Given the description of an element on the screen output the (x, y) to click on. 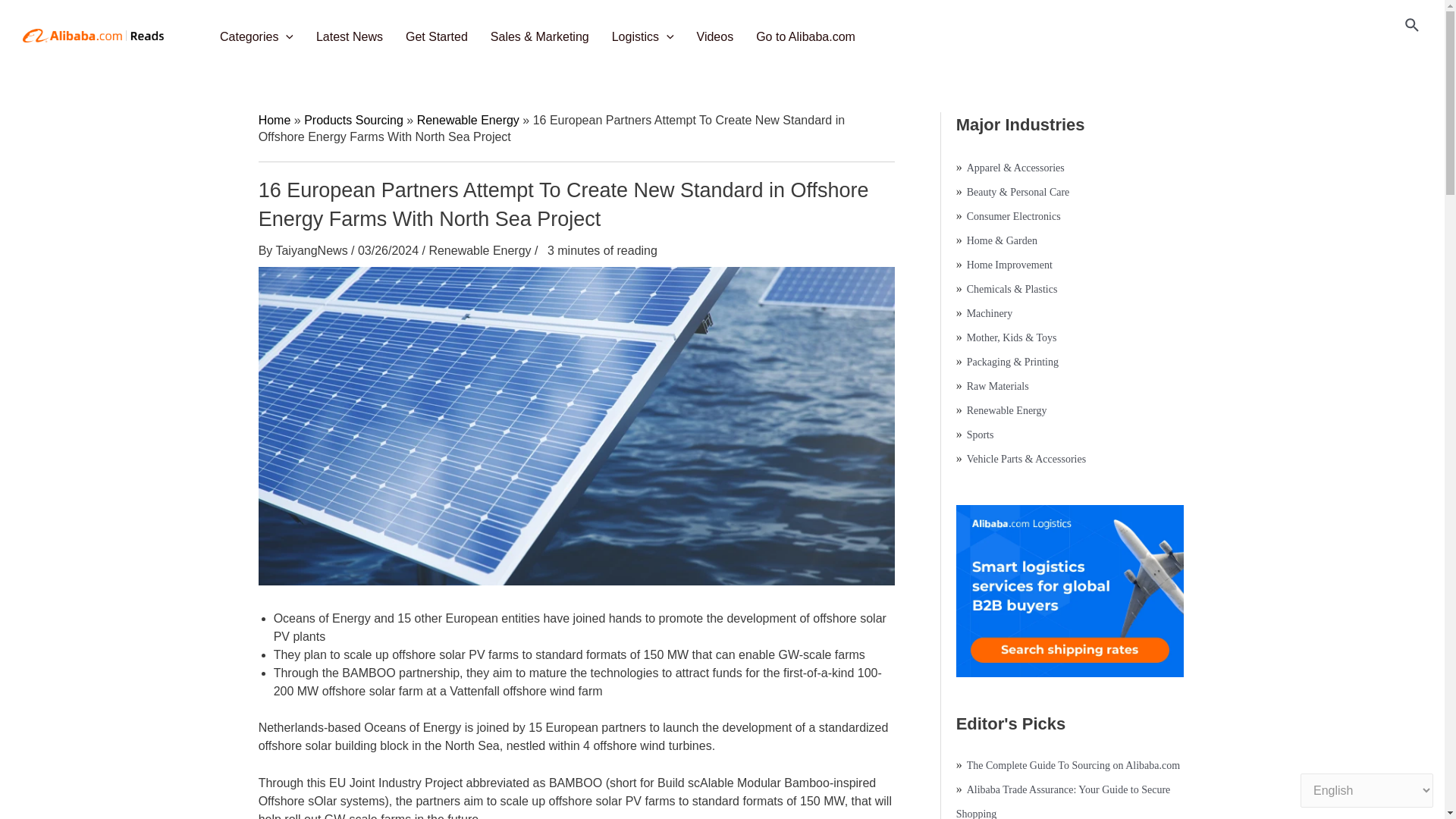
Go to Alibaba.com (809, 31)
Latest News (352, 31)
Categories (260, 31)
Get Started (440, 31)
Search (1413, 25)
View all posts by TaiyangNews (312, 250)
Videos (718, 31)
Logistics (646, 31)
